Given the description of an element on the screen output the (x, y) to click on. 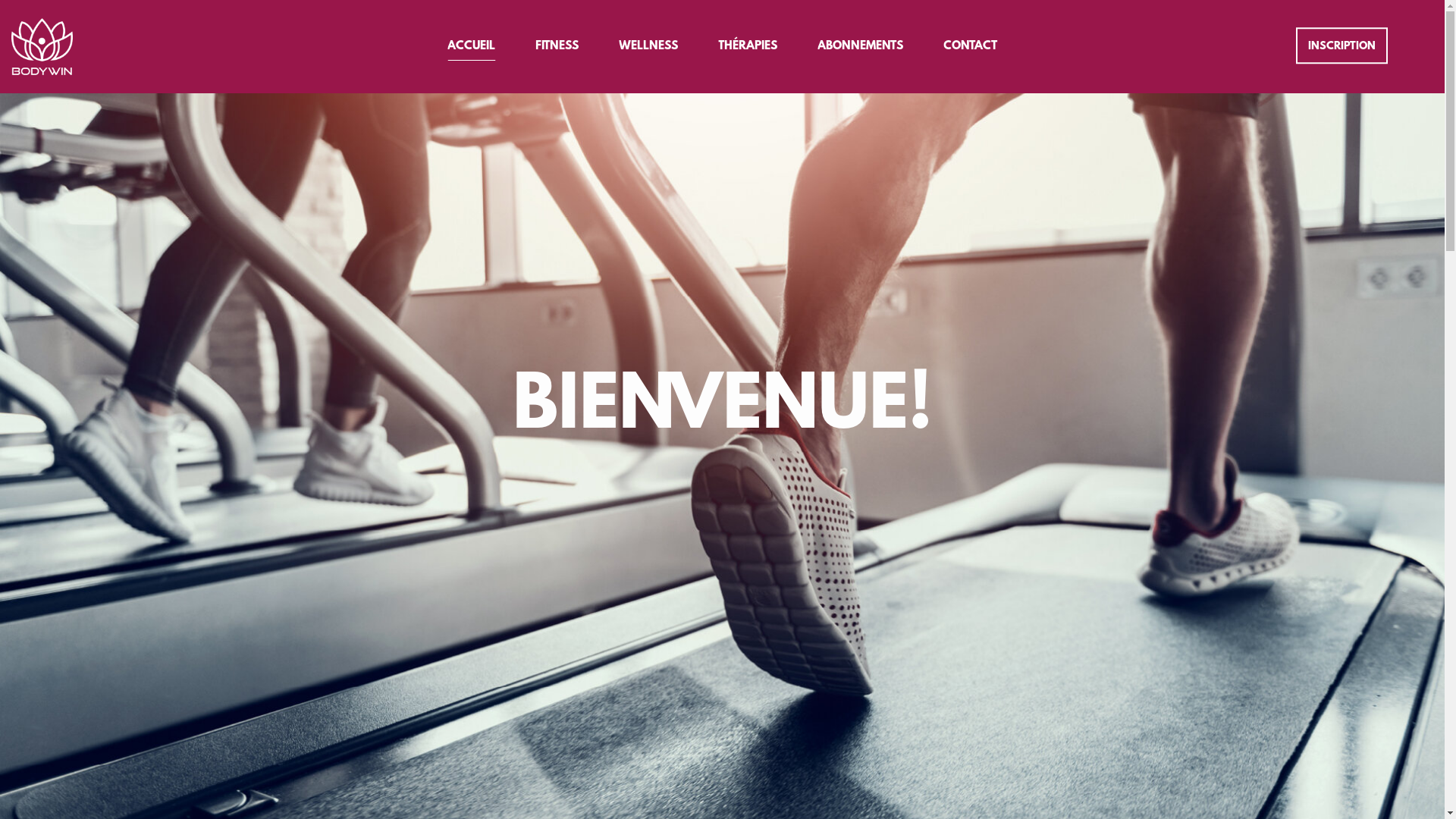
ACCUEIL Element type: text (471, 45)
CONTACT Element type: text (970, 45)
WELLNESS Element type: text (647, 45)
ABONNEMENTS Element type: text (860, 45)
FITNESS Element type: text (556, 45)
INSCRIPTION Element type: text (1341, 46)
